Given the description of an element on the screen output the (x, y) to click on. 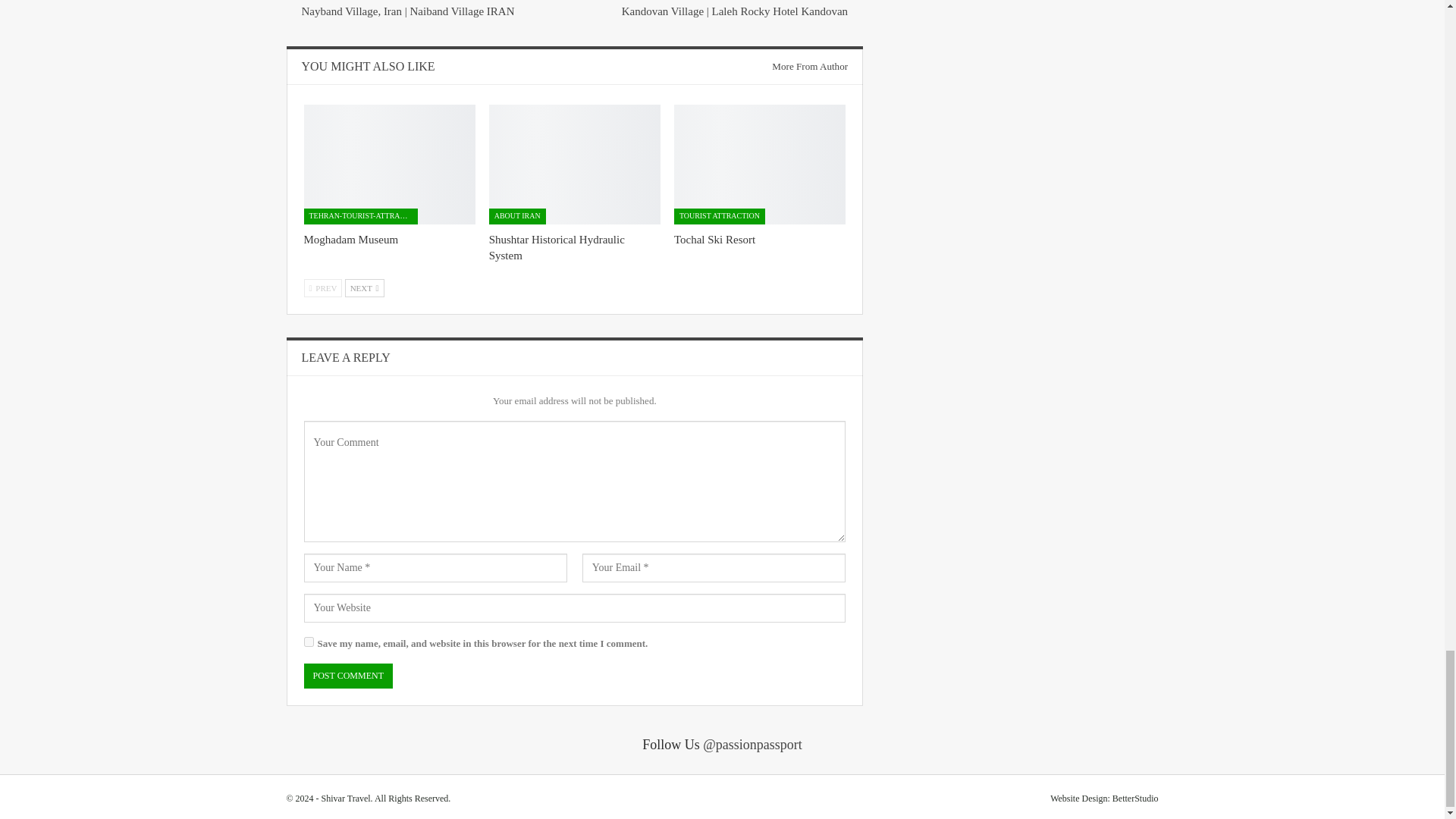
Moghadam Museum (349, 239)
Post Comment (346, 675)
yes (307, 642)
Moghadam Museum (388, 164)
Tochal Ski Resort (714, 239)
Tochal Ski Resort (759, 164)
